Given the description of an element on the screen output the (x, y) to click on. 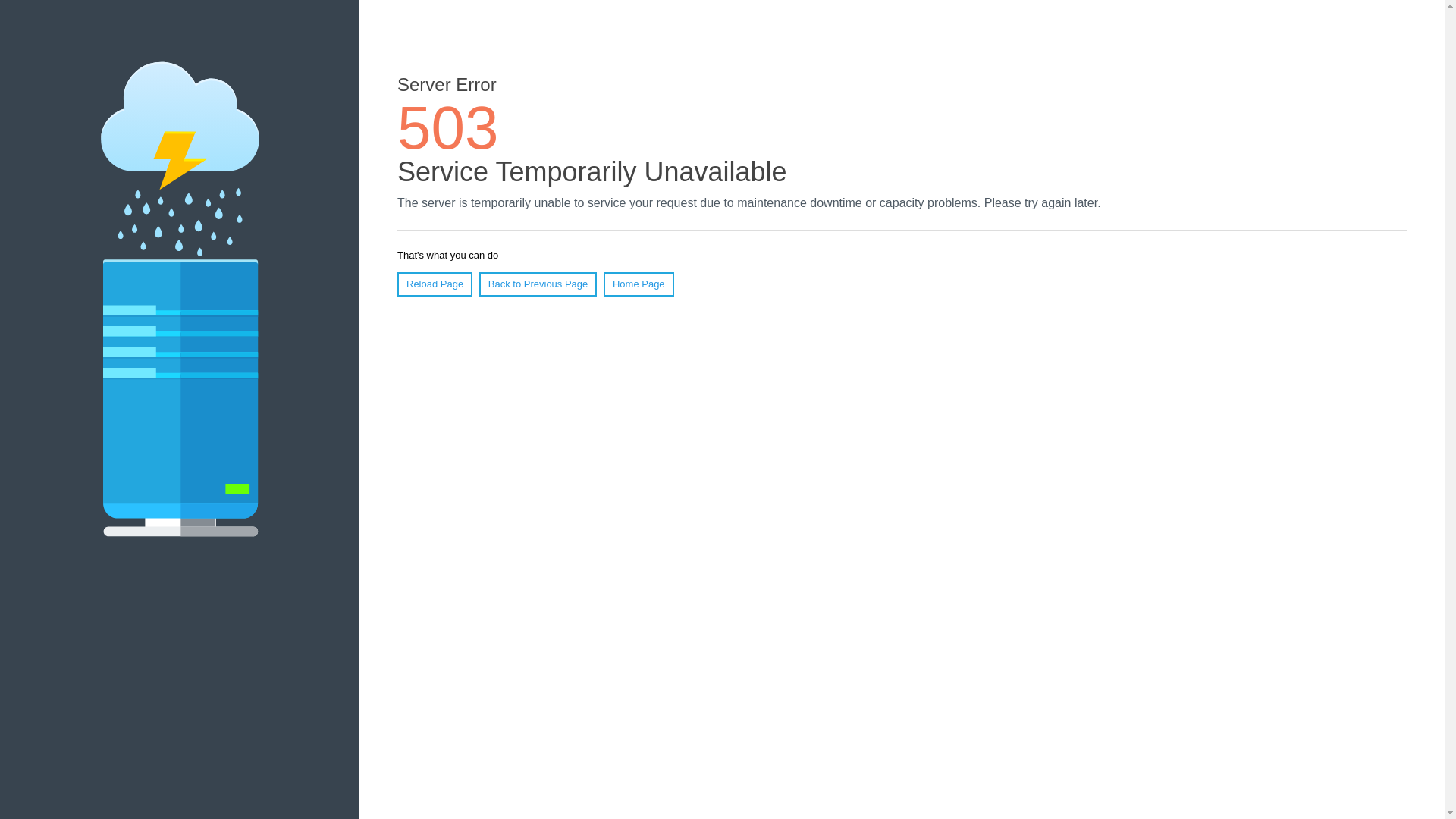
Home Page Element type: text (638, 284)
Back to Previous Page Element type: text (538, 284)
Reload Page Element type: text (434, 284)
